Given the description of an element on the screen output the (x, y) to click on. 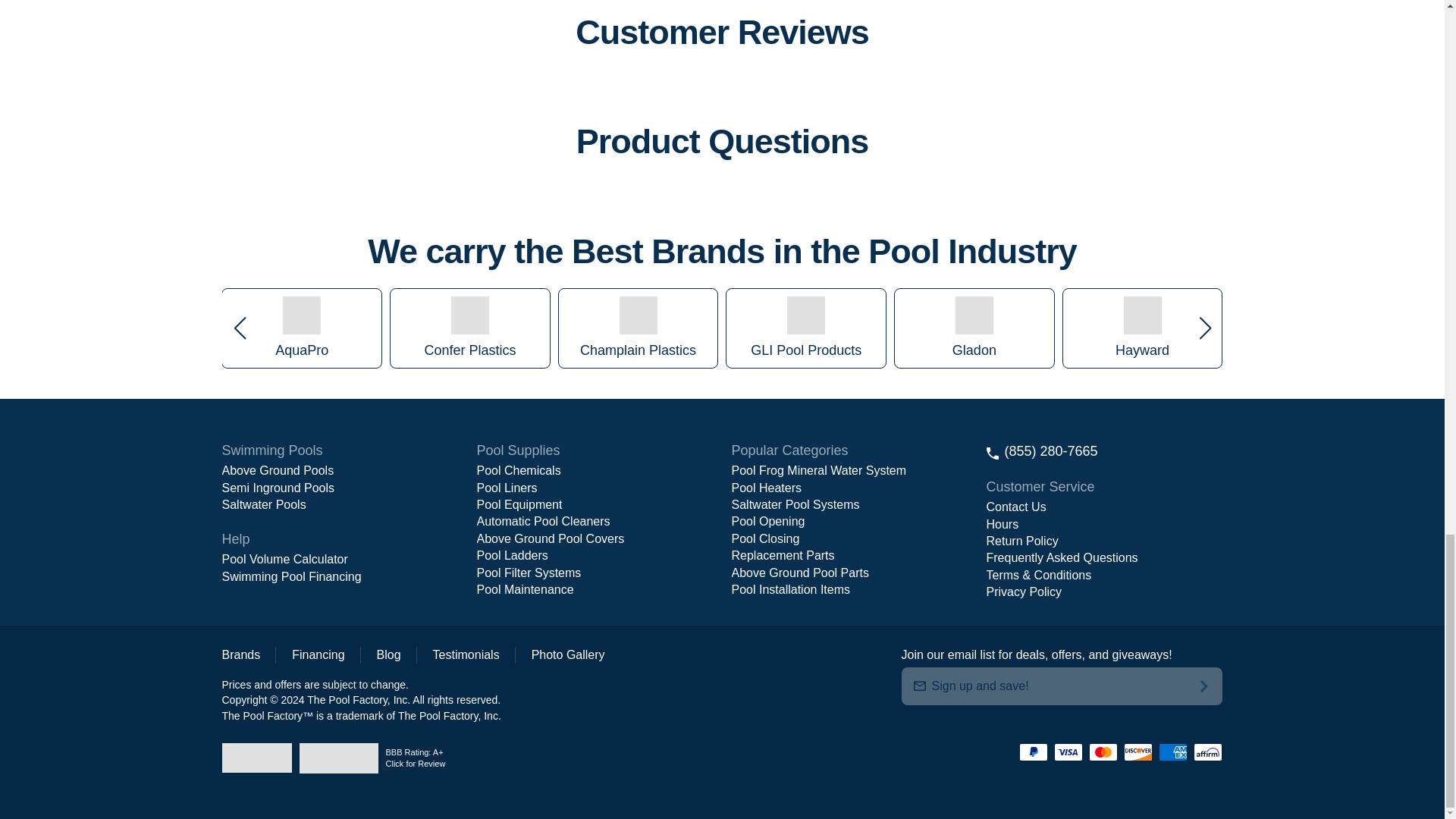
Champlain Plastics (639, 315)
Gladon (973, 315)
Hayward (1142, 315)
Confer Plastics (470, 315)
GLI Pool Products (806, 315)
AquaPro Systems (301, 315)
